Given the description of an element on the screen output the (x, y) to click on. 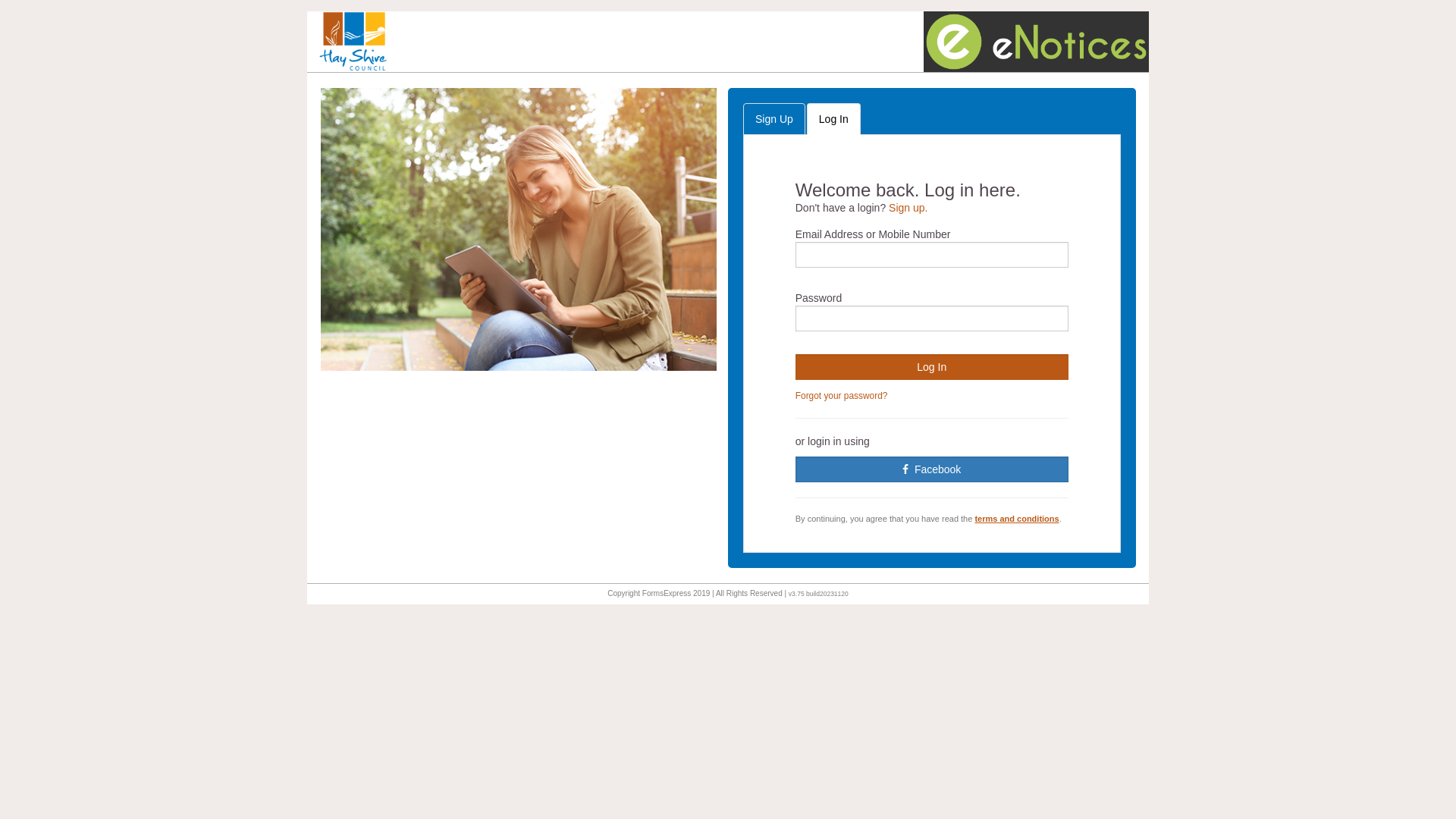
Sign Up Element type: text (774, 118)
Sign up. Element type: text (907, 207)
Log In Element type: text (931, 366)
  Facebook Element type: text (931, 469)
Forgot your password? Element type: text (841, 395)
Log In Element type: text (833, 118)
terms and conditions Element type: text (1016, 518)
